Given the description of an element on the screen output the (x, y) to click on. 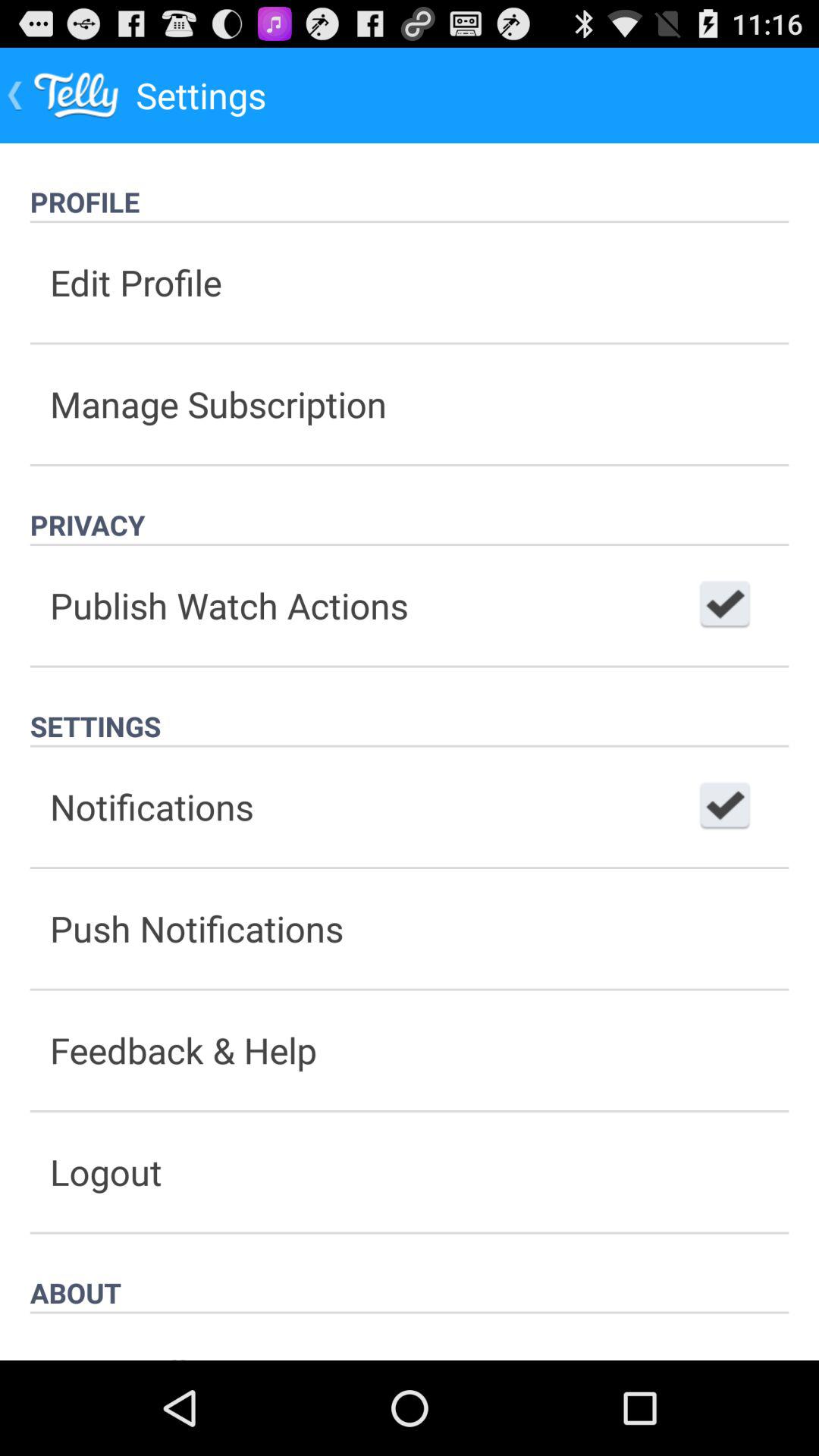
jump to push notifications icon (409, 928)
